Given the description of an element on the screen output the (x, y) to click on. 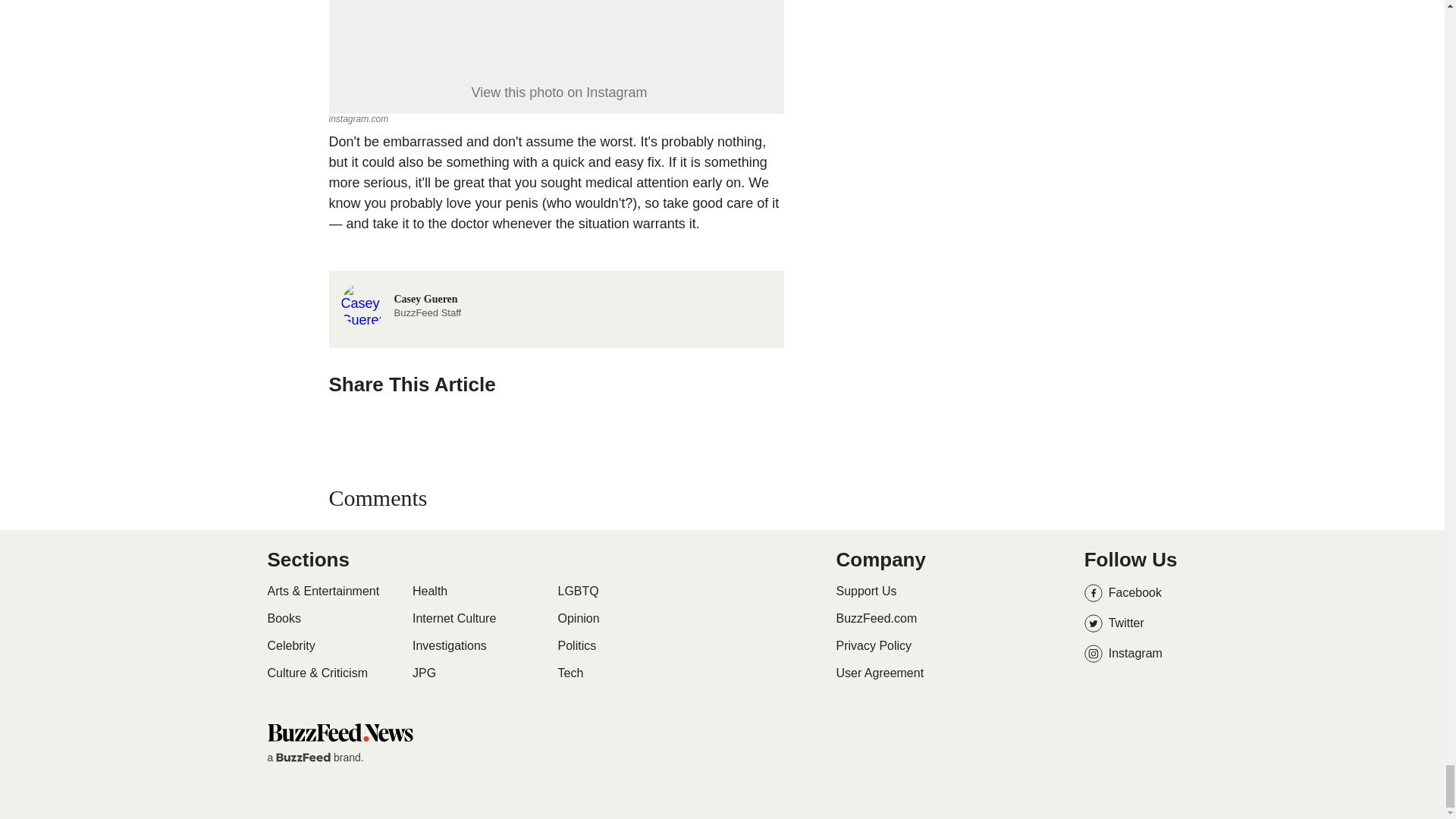
BuzzFeed (303, 757)
BuzzFeed News Home (339, 732)
